Given the description of an element on the screen output the (x, y) to click on. 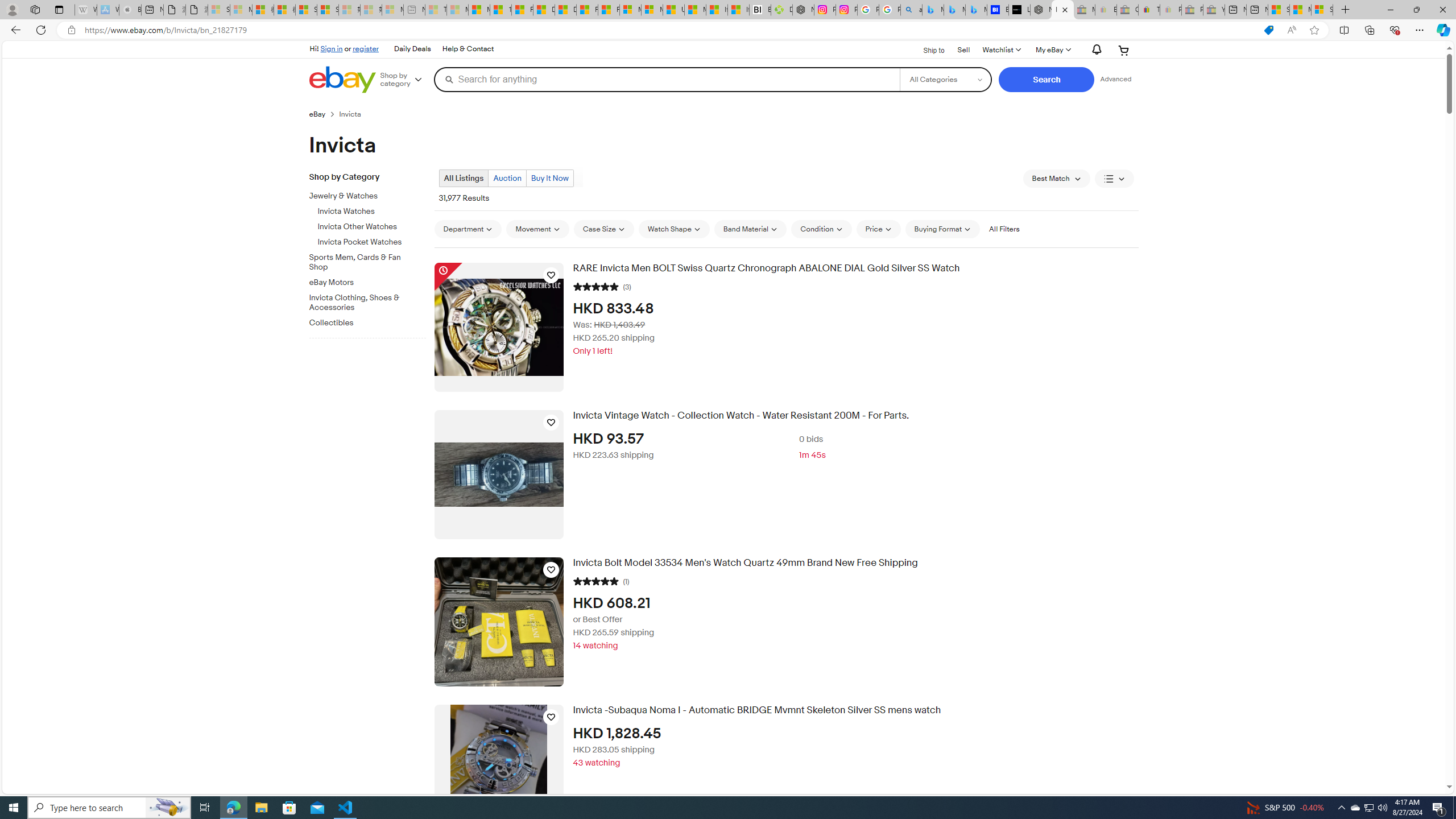
Sort: Best Match (1056, 178)
Search for anything (666, 78)
Ship to (926, 50)
Case Size (603, 229)
Condition (820, 229)
eBay Home (341, 79)
Sports Mem, Cards & Fan Shop (362, 262)
Your shopping cart (1123, 49)
